Given the description of an element on the screen output the (x, y) to click on. 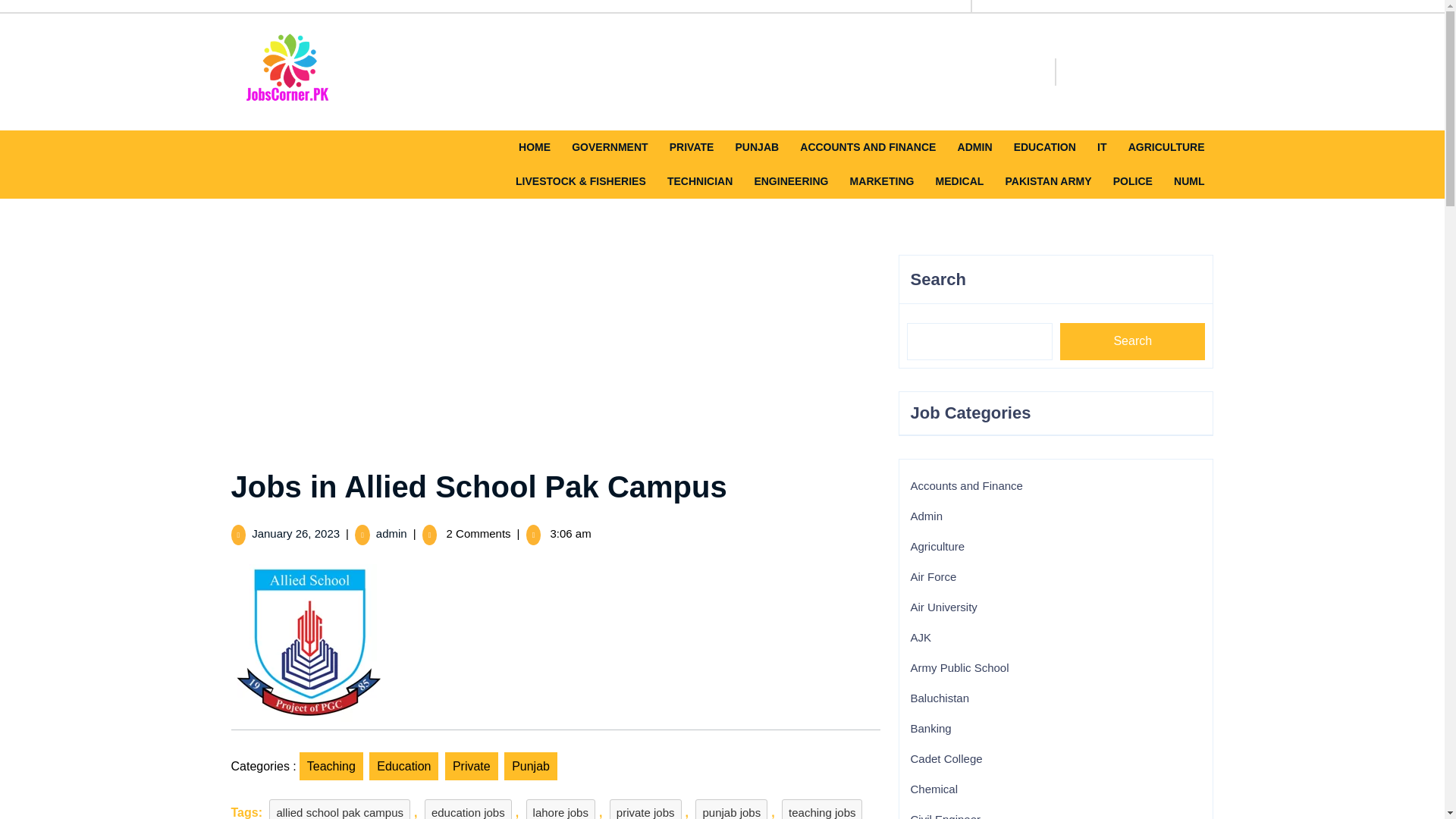
ADMIN (975, 147)
GOVERNMENT (609, 147)
ACCOUNTS AND FINANCE (867, 147)
PUNJAB (756, 147)
PRIVATE (691, 147)
HOME (534, 147)
EDUCATION (1044, 147)
